Given the description of an element on the screen output the (x, y) to click on. 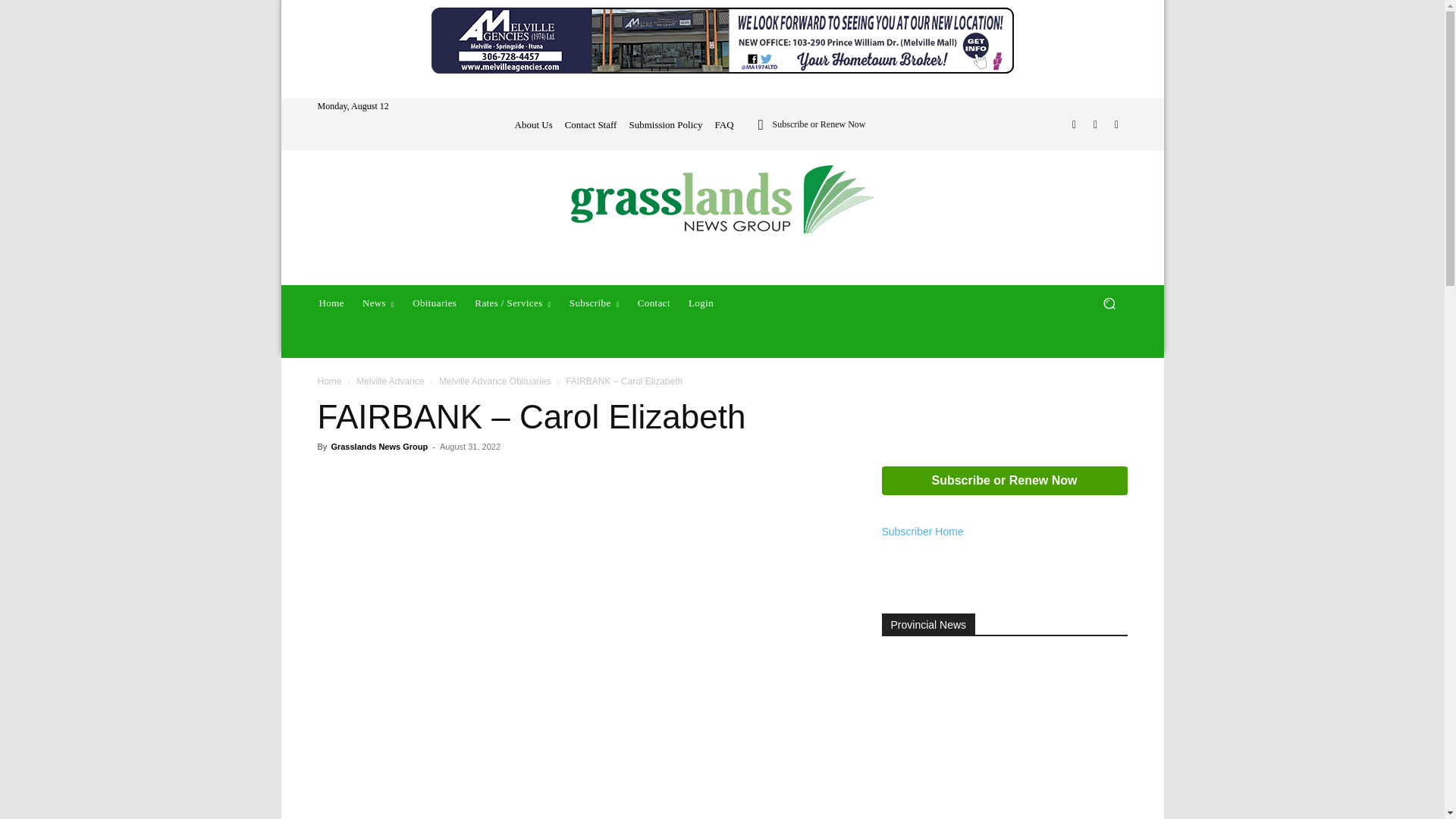
View all posts in Melville Advance (389, 380)
About Us (532, 124)
Instagram (1094, 124)
Grasslands News Group (721, 199)
Twitter (1115, 124)
Grasslands News Group (721, 199)
View all posts in Melville Advance Obituaries (494, 380)
Facebook (1073, 124)
